Given the description of an element on the screen output the (x, y) to click on. 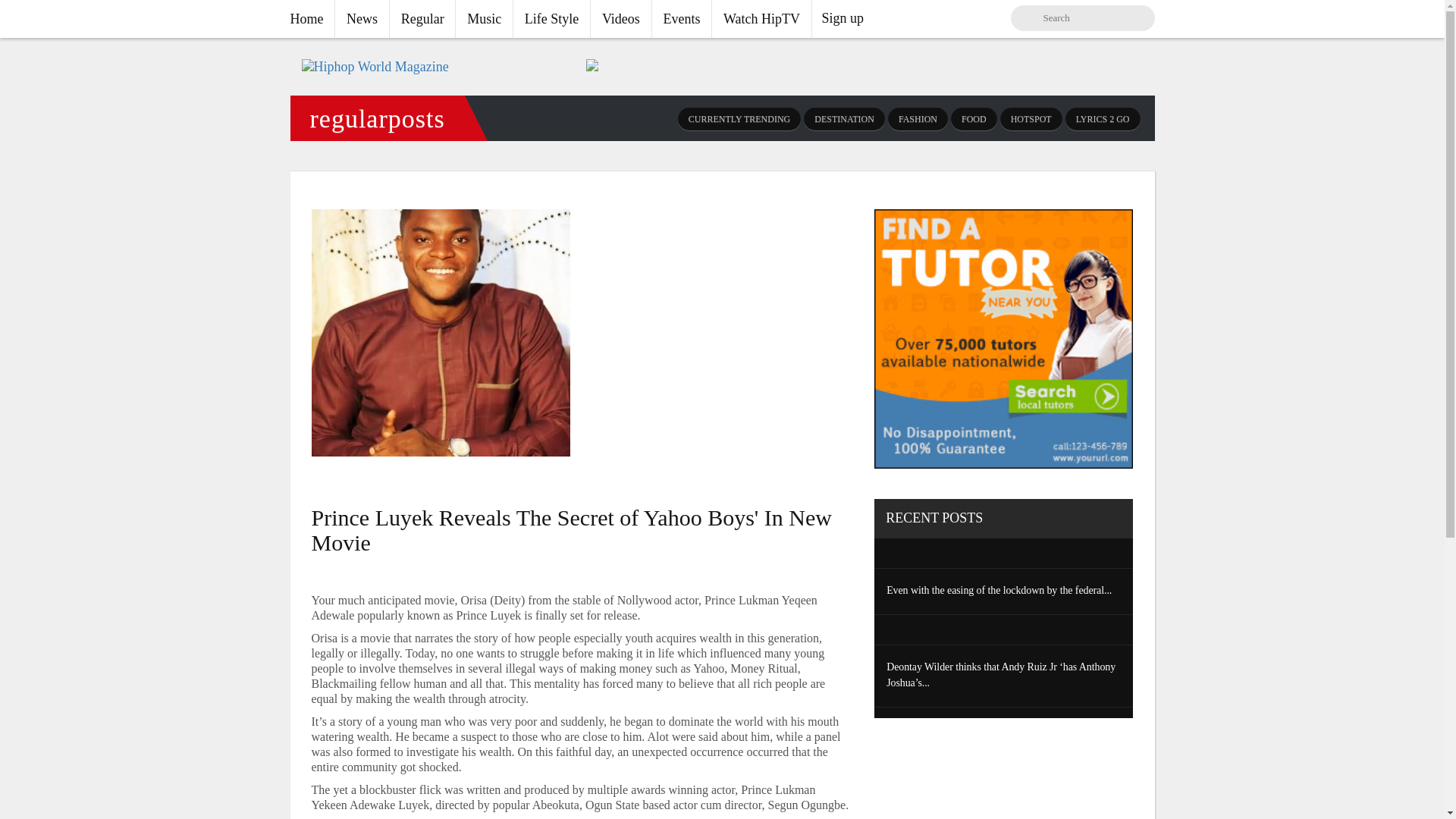
Events (681, 18)
Hiphop World Magazine (374, 66)
CURRENTLY TRENDING (739, 118)
Videos (620, 18)
HOTSPOT (1031, 118)
Life Style (551, 18)
DESTINATION (844, 118)
Regular (422, 18)
LYRICS 2 GO (1102, 118)
News (361, 18)
